Given the description of an element on the screen output the (x, y) to click on. 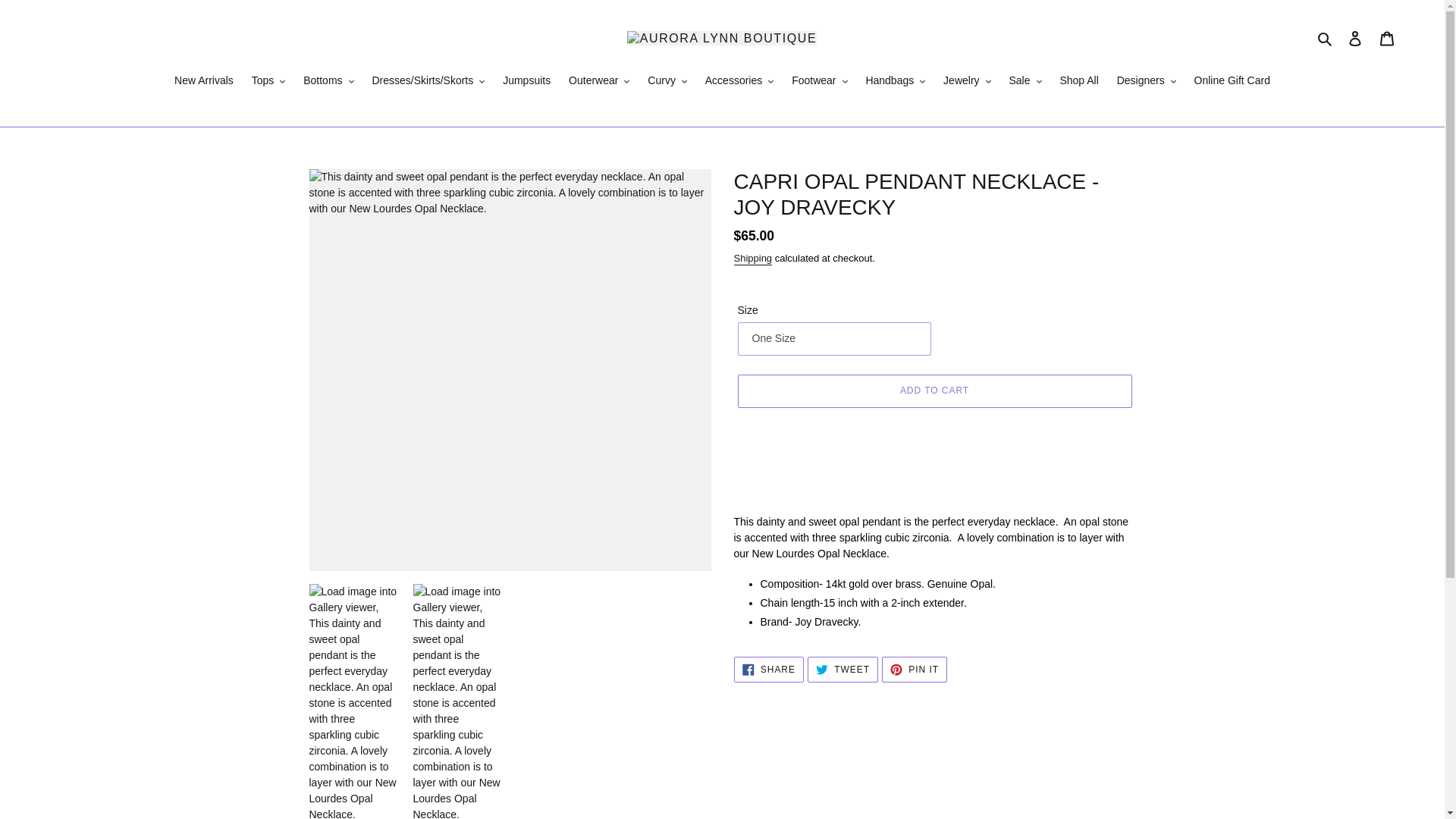
Cart (1387, 38)
Log in (1355, 38)
Search (1326, 37)
